Given the description of an element on the screen output the (x, y) to click on. 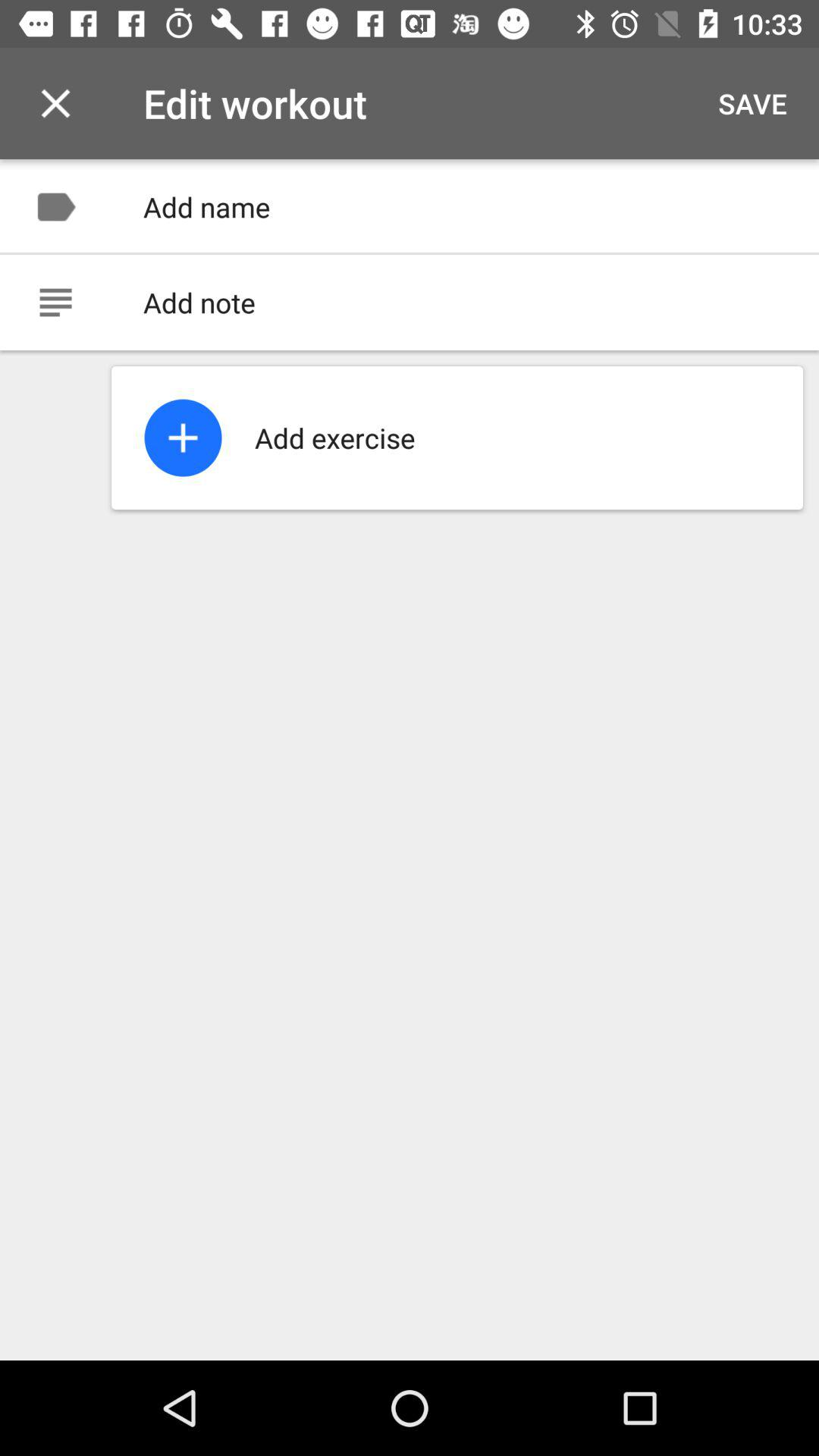
tap item to the left of edit workout (55, 103)
